Given the description of an element on the screen output the (x, y) to click on. 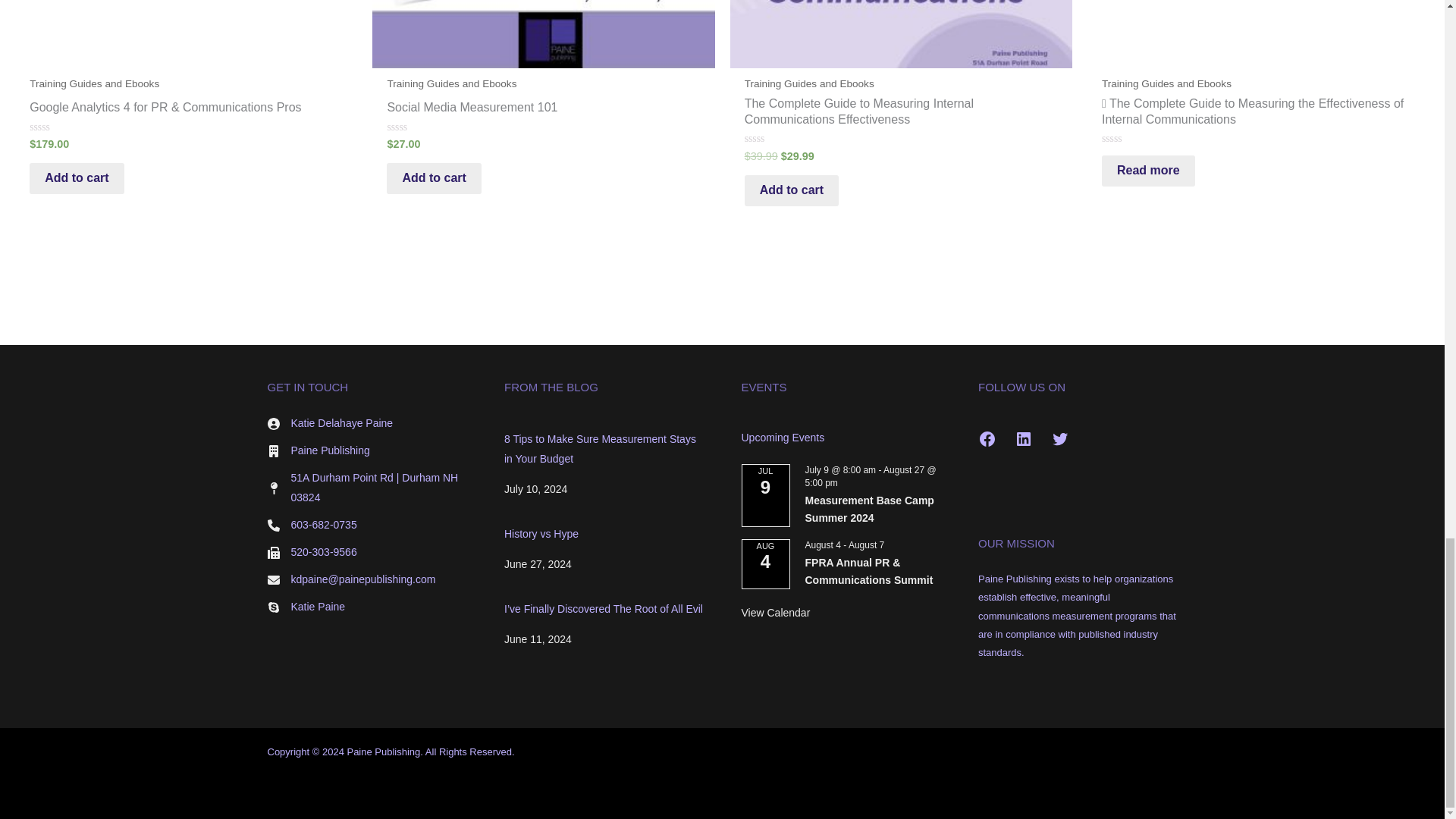
Measurement Base Camp Summer 2024 (869, 509)
View more events. (775, 612)
